Given the description of an element on the screen output the (x, y) to click on. 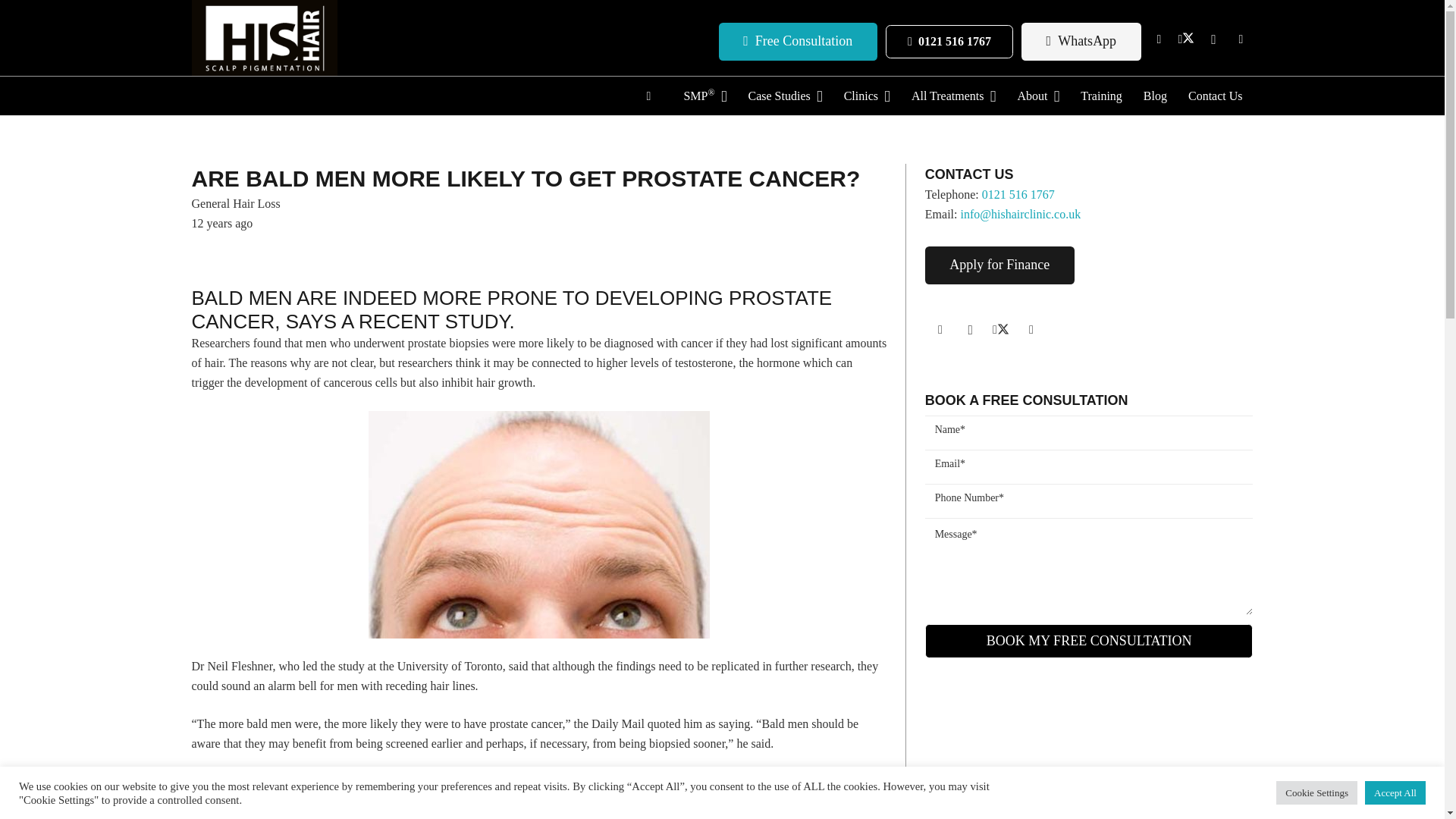
baldness prostate cancer (539, 524)
Clinics (866, 96)
YouTube (1240, 39)
0121 516 1767 (948, 41)
Facebook (1159, 39)
Instagram (970, 329)
Free Consultation (798, 41)
WhatsApp (1081, 41)
Apply for Finance (999, 265)
Twitter (1186, 39)
All Treatments (953, 96)
Case Studies (784, 96)
Facebook (939, 329)
BOOK MY FREE CONSULTATION (1088, 641)
Instagram (1213, 39)
